Given the description of an element on the screen output the (x, y) to click on. 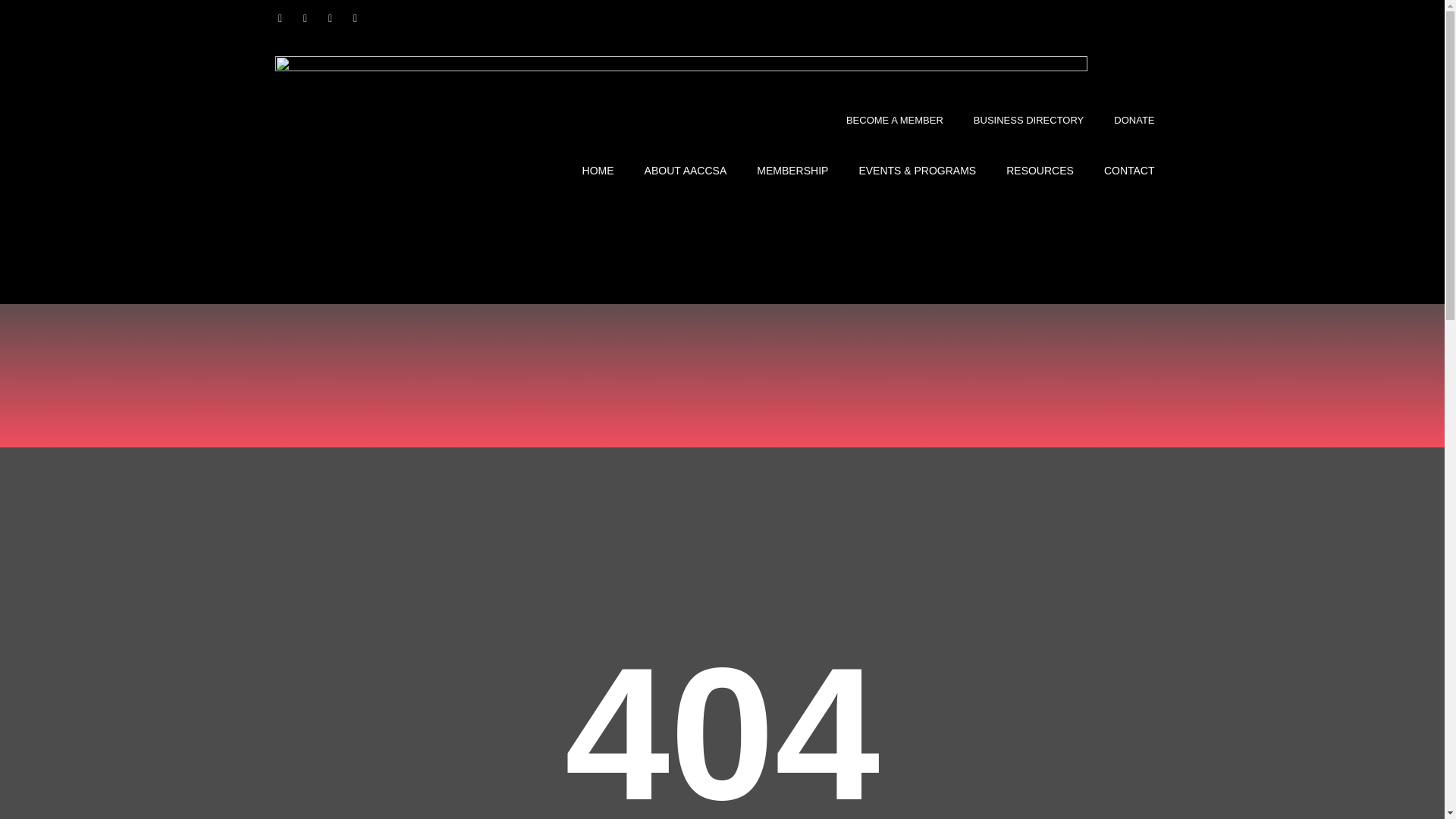
BUSINESS DIRECTORY (1028, 120)
HOME (597, 170)
BECOME A MEMBER (894, 120)
ABOUT AACCSA (685, 170)
RESOURCES (1040, 170)
DONATE (1134, 120)
MEMBERSHIP (792, 170)
